Given the description of an element on the screen output the (x, y) to click on. 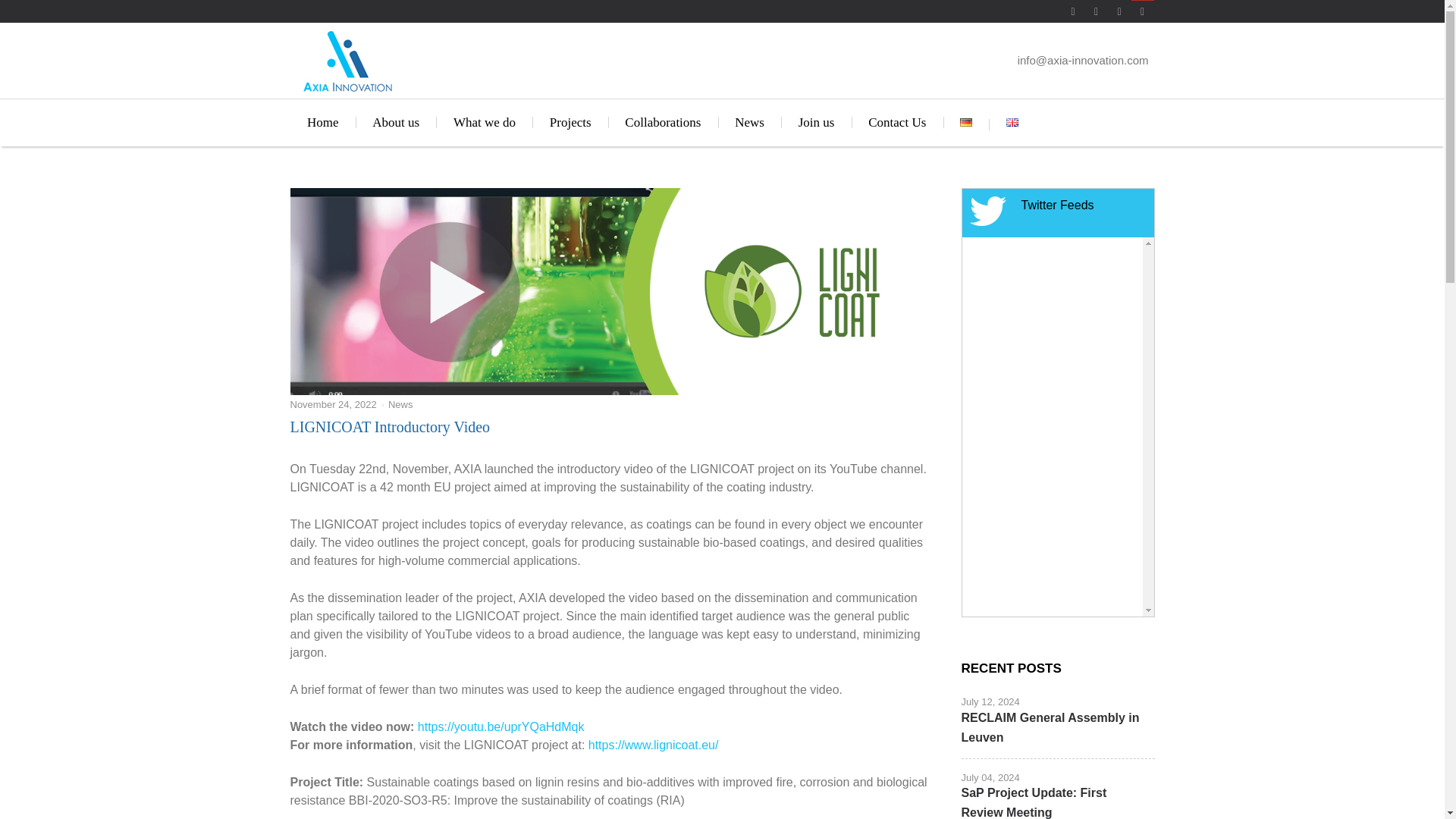
RECLAIM General Assembly in Leuven (1050, 727)
News (400, 404)
November 24, 2022 (332, 404)
July 12, 2024 (990, 701)
About us (395, 122)
Home (322, 122)
News (749, 122)
Join us (815, 122)
Contact Us (897, 122)
Projects (570, 122)
What we do (483, 122)
Collaborations (662, 122)
